Given the description of an element on the screen output the (x, y) to click on. 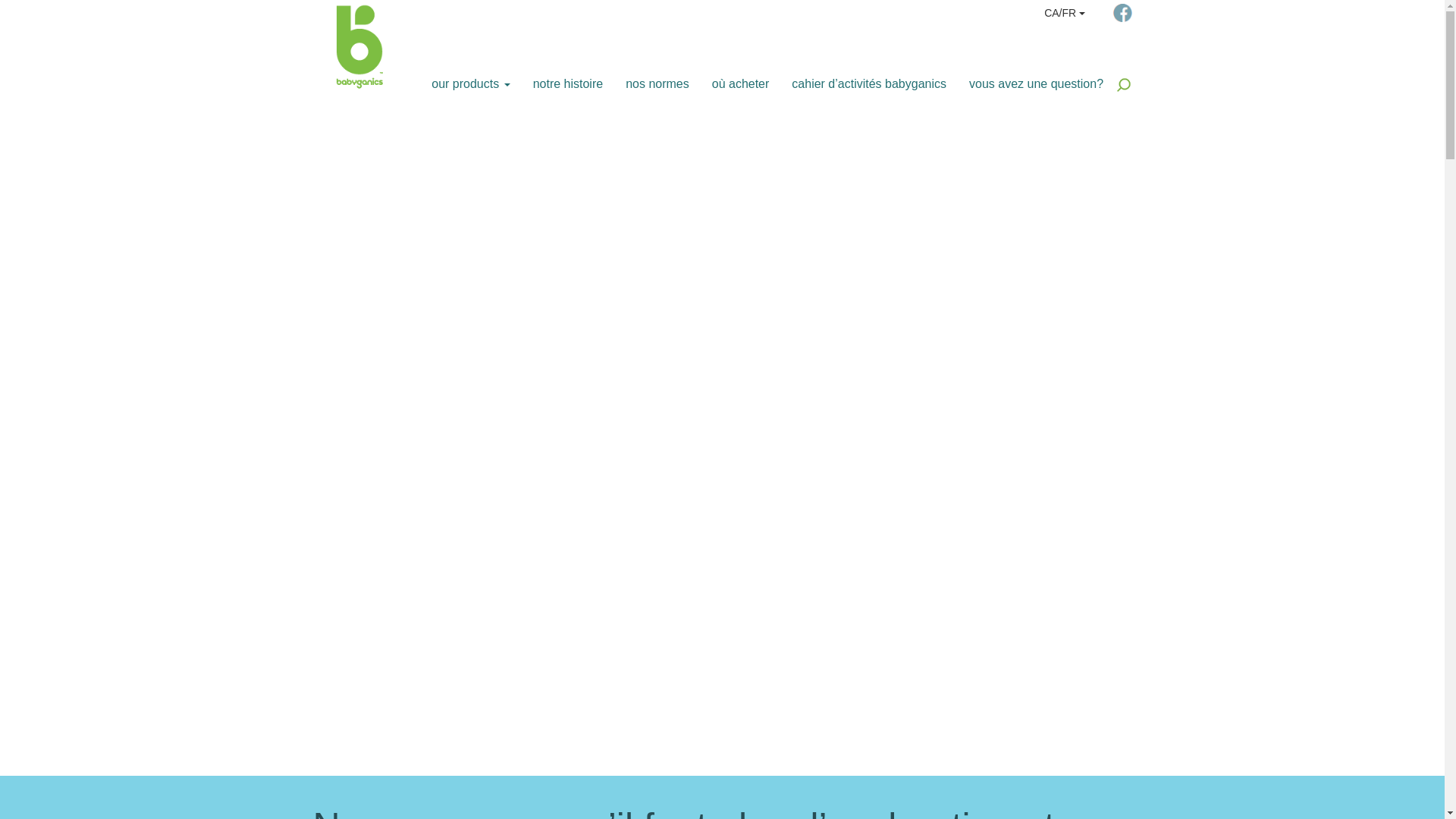
CA/FR Element type: text (1064, 13)
Search Element type: hover (1123, 84)
our products Element type: text (470, 80)
Facebook Element type: hover (1122, 12)
vous avez une question? Element type: text (1035, 80)
notre histoire Element type: text (568, 80)
home Element type: hover (349, 45)
nos normes Element type: text (657, 80)
